Given the description of an element on the screen output the (x, y) to click on. 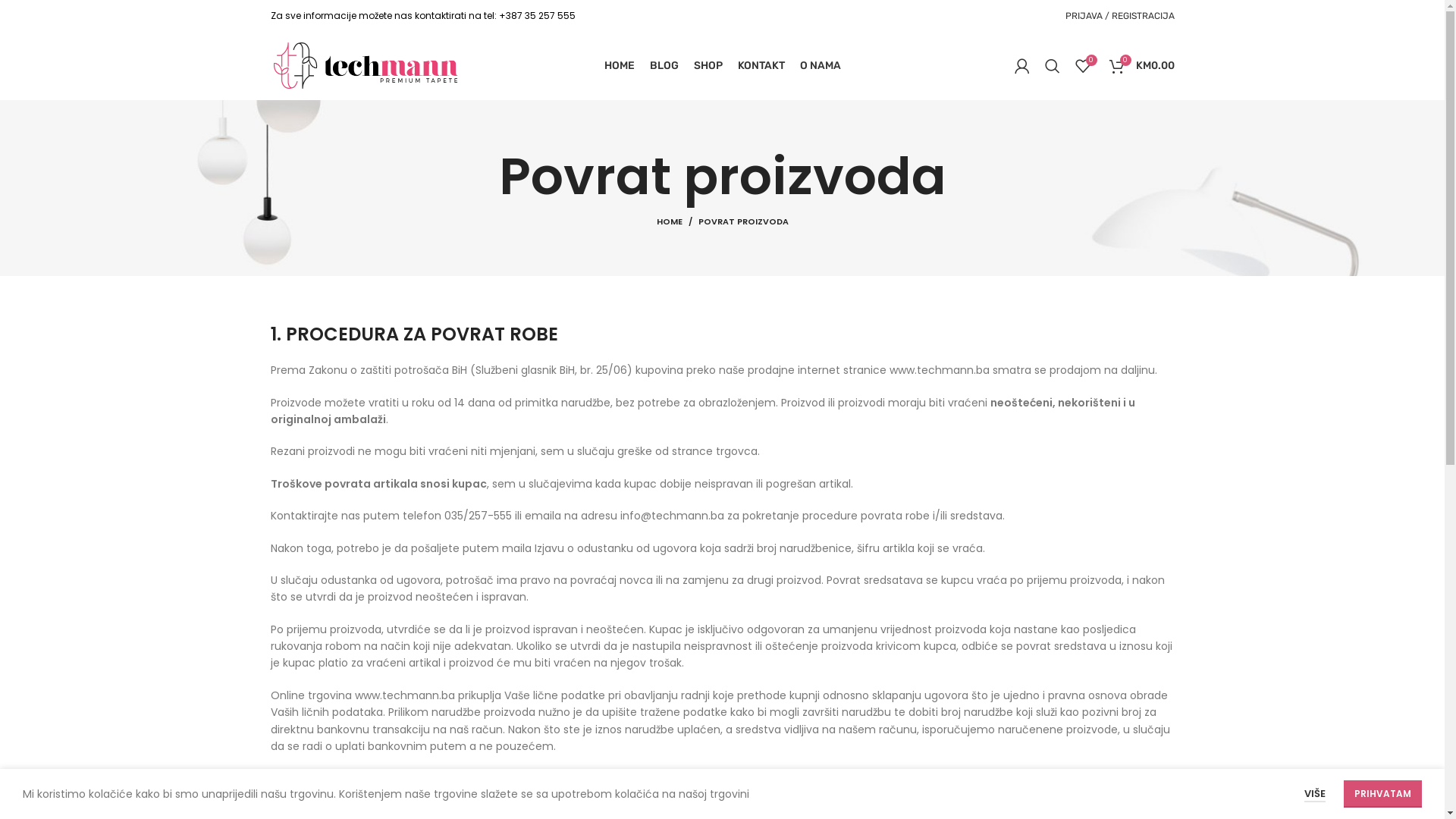
PRIJAVA / REGISTRACIJA Element type: text (1119, 15)
Prijava Element type: text (1049, 246)
Pretraga Element type: hover (1052, 65)
HOME Element type: text (618, 65)
SHOP Element type: text (707, 65)
KONTAKT Element type: text (760, 65)
BLOG Element type: text (663, 65)
TECHMANN PREMIUM TAPETE Element type: text (332, 797)
O NAMA Element type: text (819, 65)
PRIHVATAM Element type: text (1382, 793)
HOME Element type: text (677, 221)
0
KM0.00 Element type: text (1141, 65)
0 Element type: text (1082, 65)
